Given the description of an element on the screen output the (x, y) to click on. 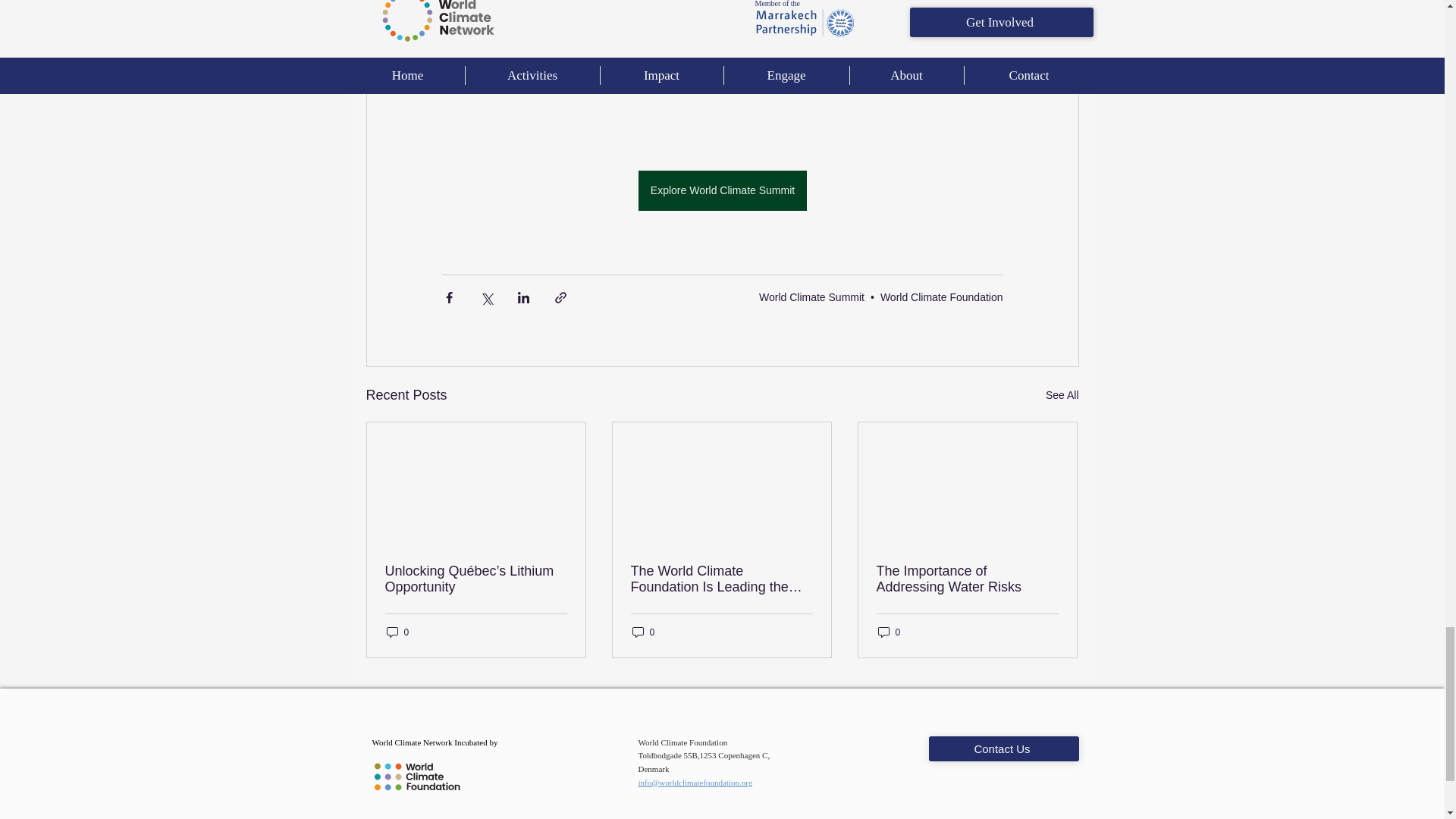
World Climate Foundation (941, 297)
The Importance of Addressing Water Risks (967, 579)
0 (643, 631)
0 (397, 631)
0 (889, 631)
World Climate Summit (811, 297)
Explore World Climate Summit (721, 190)
See All (1061, 395)
